Given the description of an element on the screen output the (x, y) to click on. 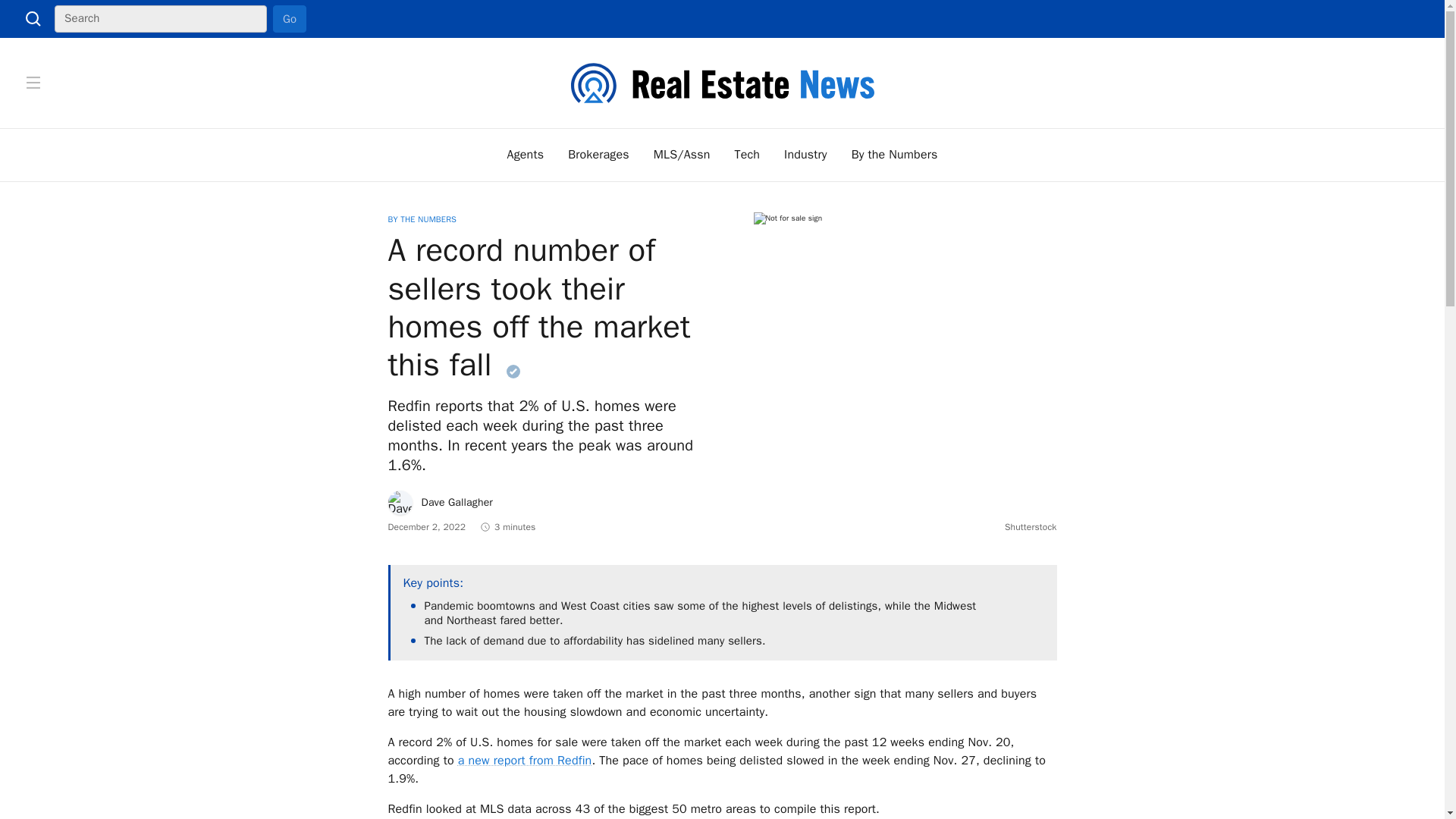
Dave Gallagher (440, 502)
Go (289, 18)
Industry (805, 154)
Brokerages (597, 154)
Verified (512, 371)
By the Numbers (894, 154)
Agents (525, 154)
a new report from Redfin (525, 760)
BY THE NUMBERS (422, 218)
